Given the description of an element on the screen output the (x, y) to click on. 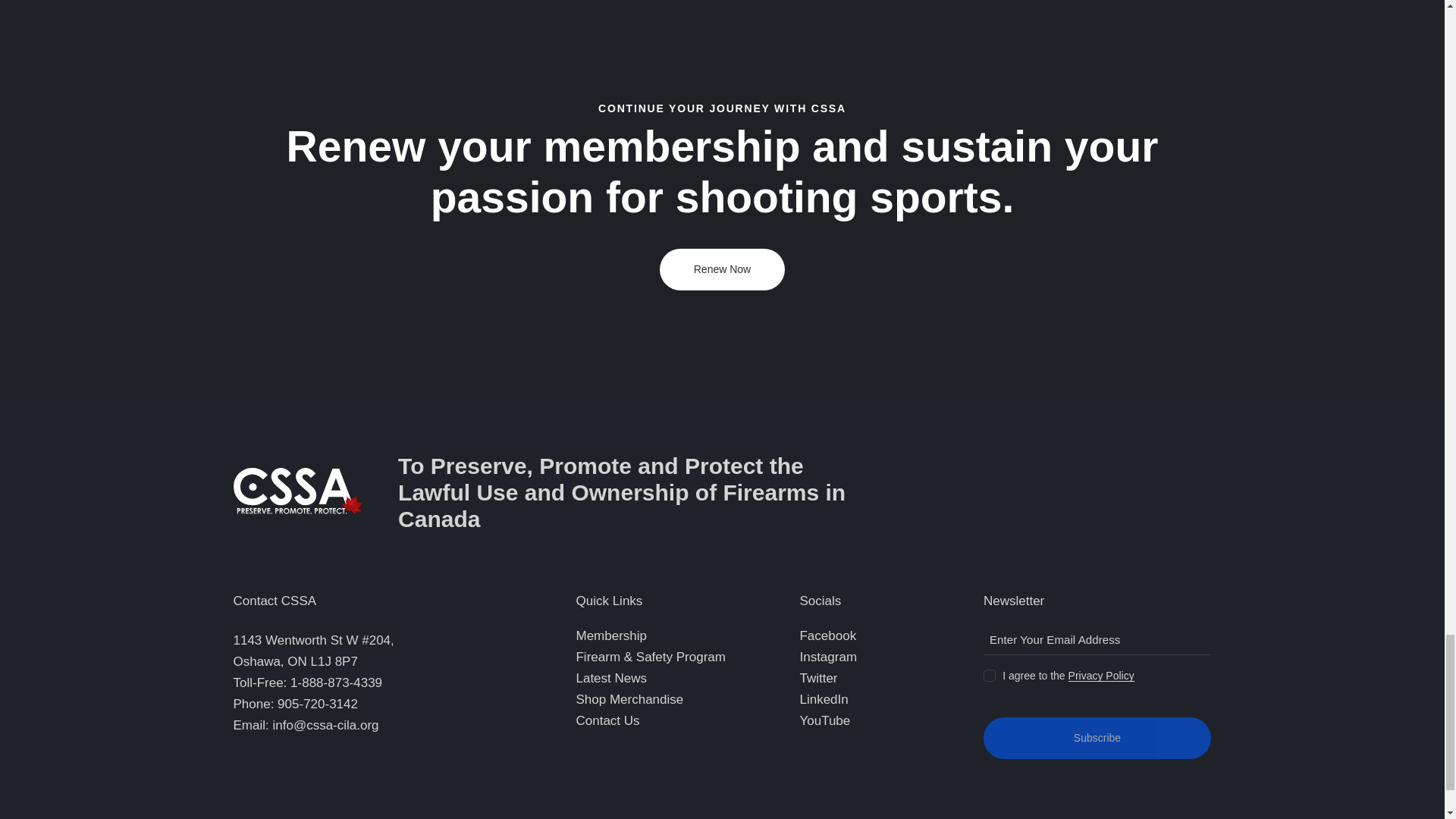
1 (988, 672)
Subscribe (1097, 738)
